Given the description of an element on the screen output the (x, y) to click on. 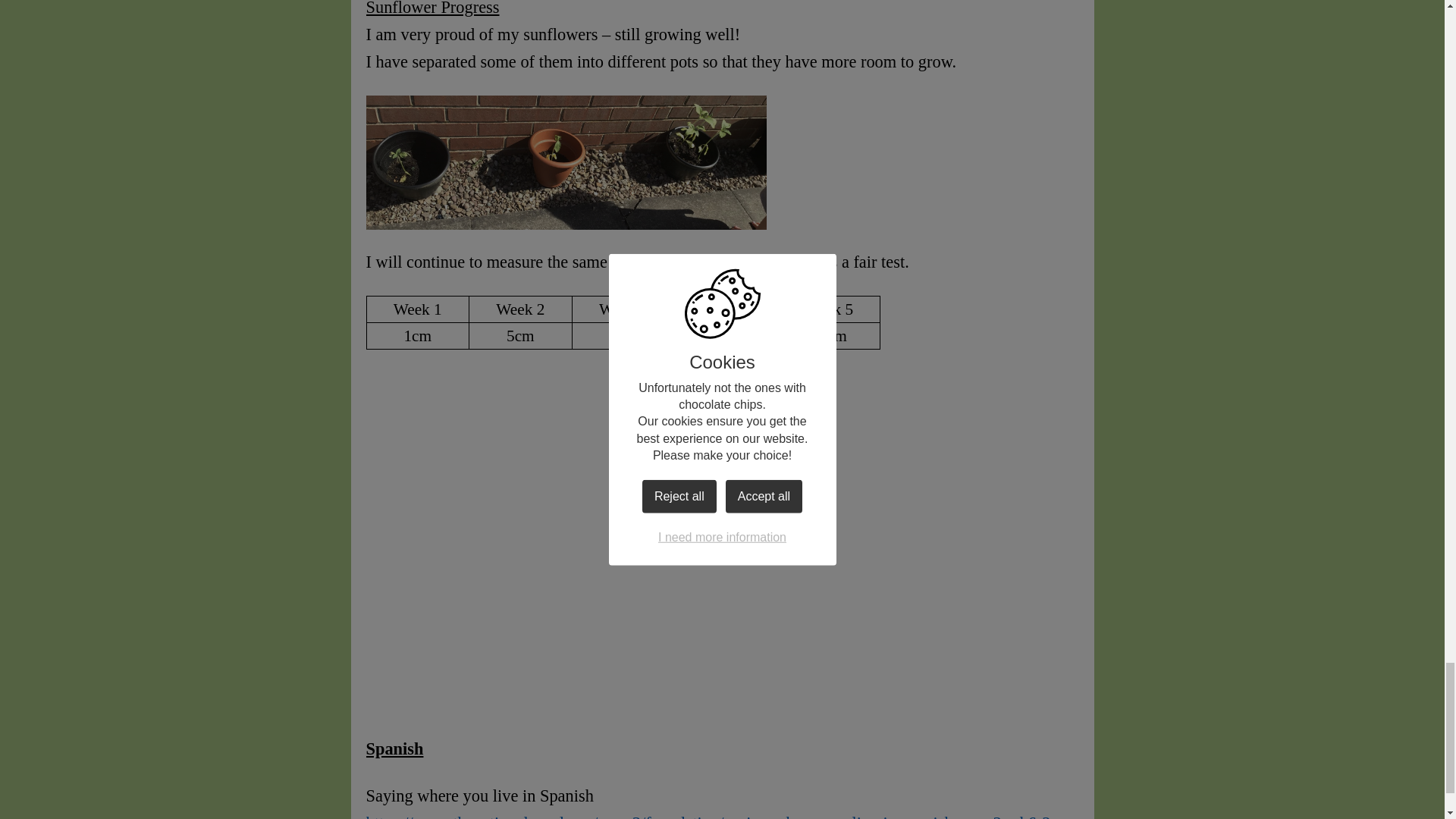
View large version of image (478, 449)
View large version of image (721, 635)
View large version of image (964, 449)
View large version of image (478, 635)
View large version of image (721, 449)
